Given the description of an element on the screen output the (x, y) to click on. 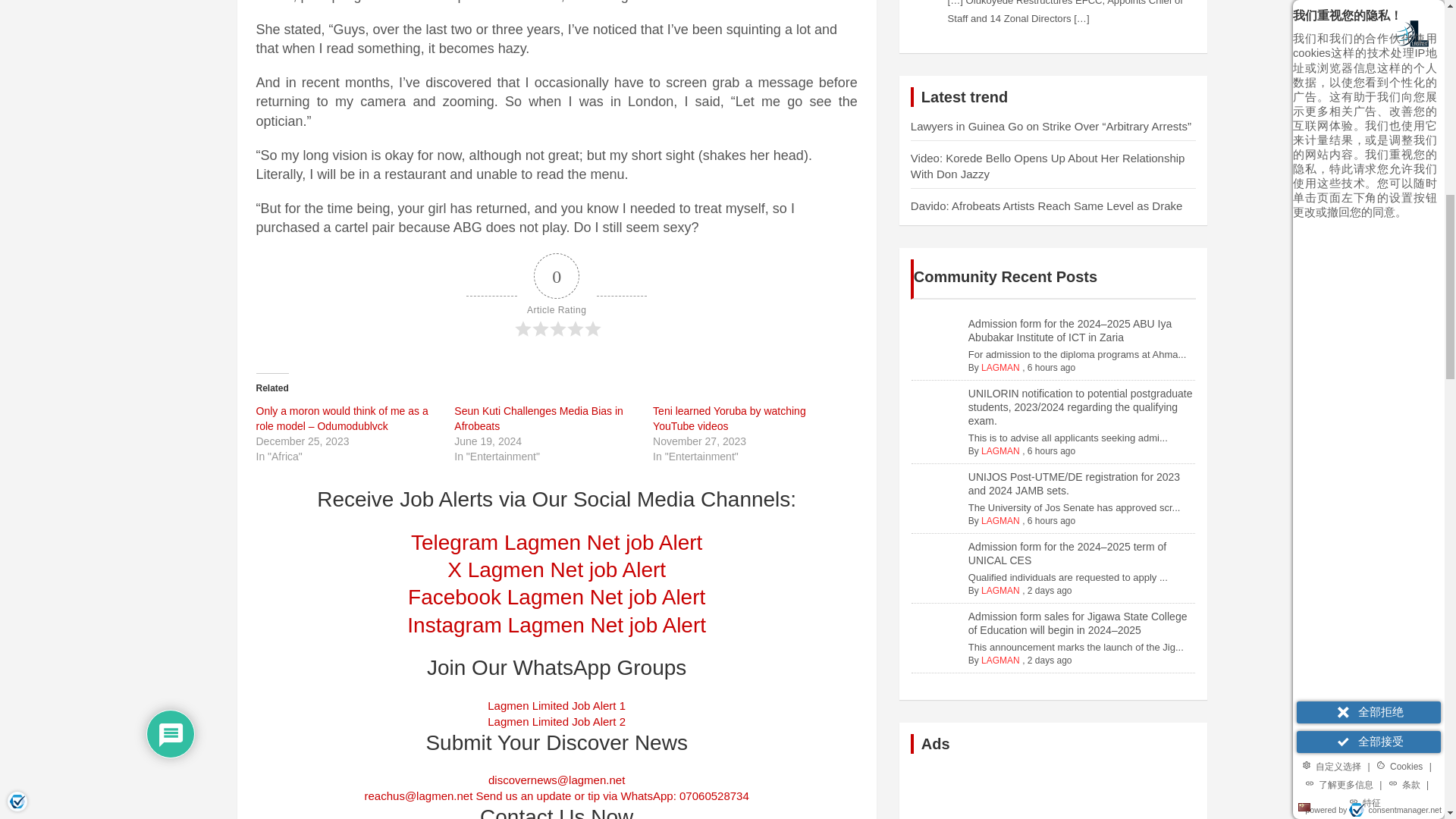
LAGMAN (1000, 520)
Teni learned Yoruba by watching YouTube videos (729, 418)
LAGMAN (1000, 590)
LAGMAN (1000, 367)
LAGMAN (1000, 450)
LAGMAN (1000, 660)
Seun Kuti Challenges Media Bias in Afrobeats (538, 418)
